Given the description of an element on the screen output the (x, y) to click on. 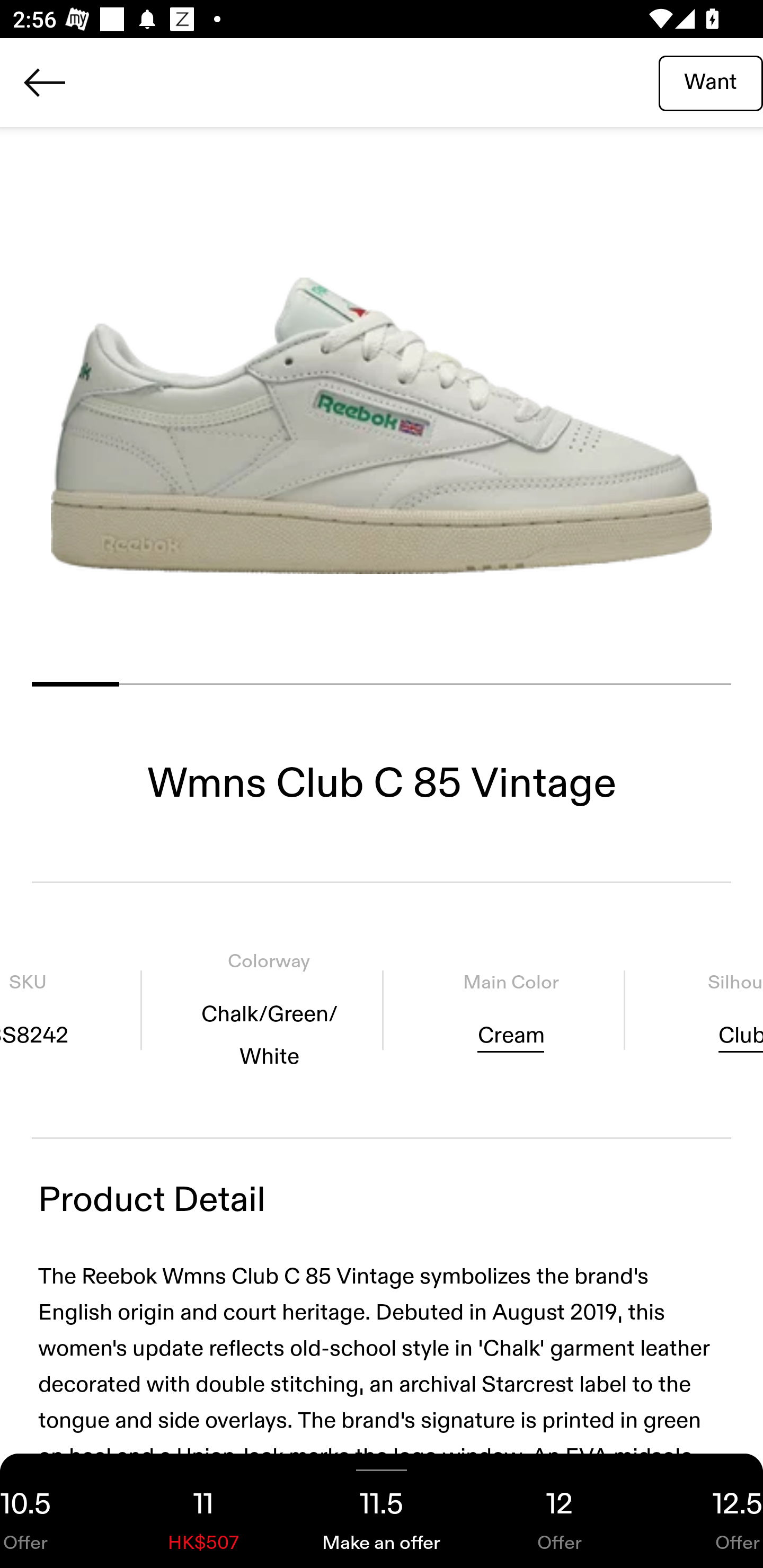
Want (710, 82)
Colorway Chalk/Green/White (268, 1009)
Main Color Cream (509, 1009)
10.5 Offer (57, 1510)
11 HK$507 (203, 1510)
11.5 Make an offer (381, 1510)
12 Offer (559, 1510)
12.5 Offer (705, 1510)
